Given the description of an element on the screen output the (x, y) to click on. 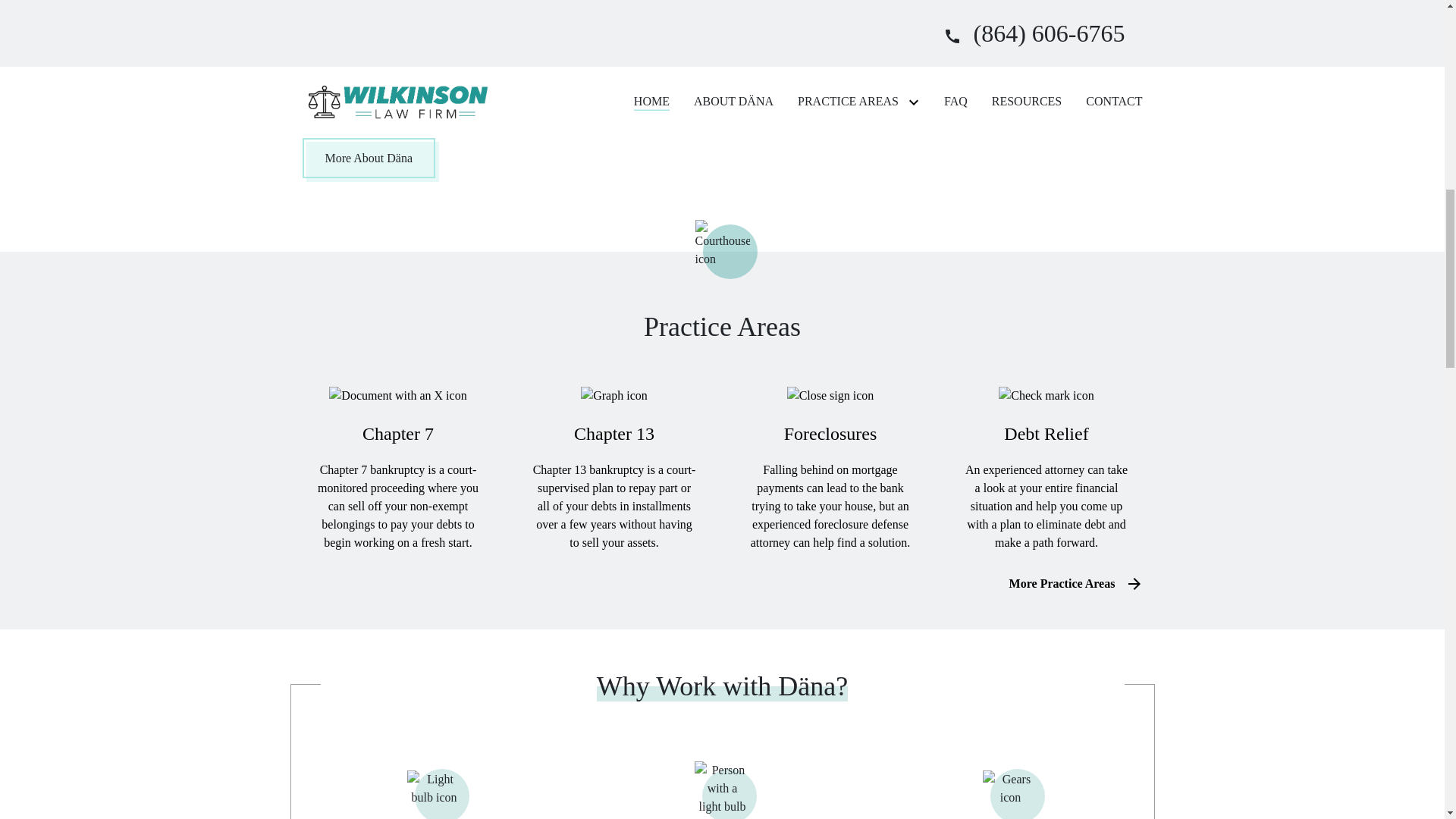
More Practice Areas (1062, 583)
